Given the description of an element on the screen output the (x, y) to click on. 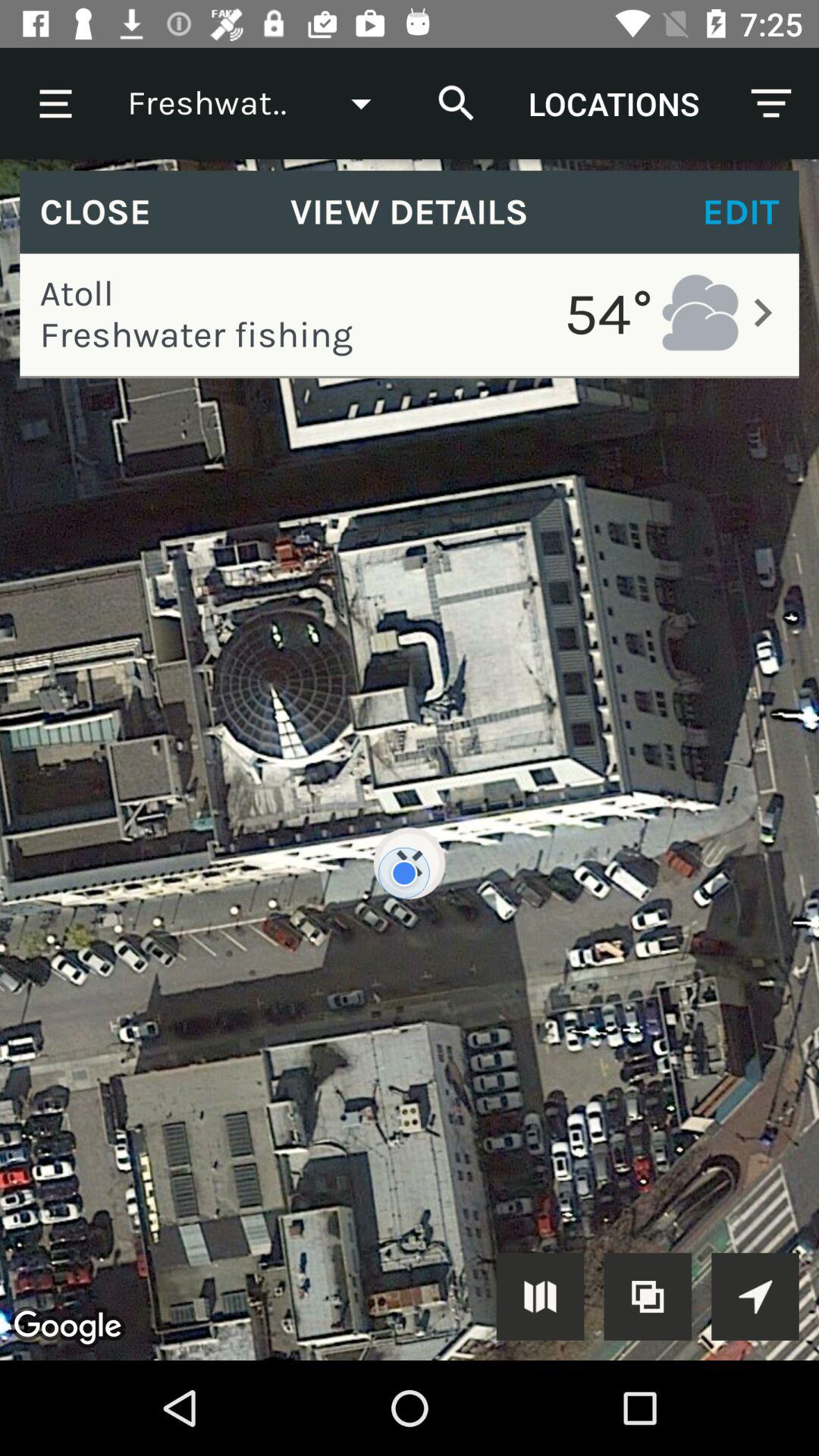
save options (755, 1296)
